Given the description of an element on the screen output the (x, y) to click on. 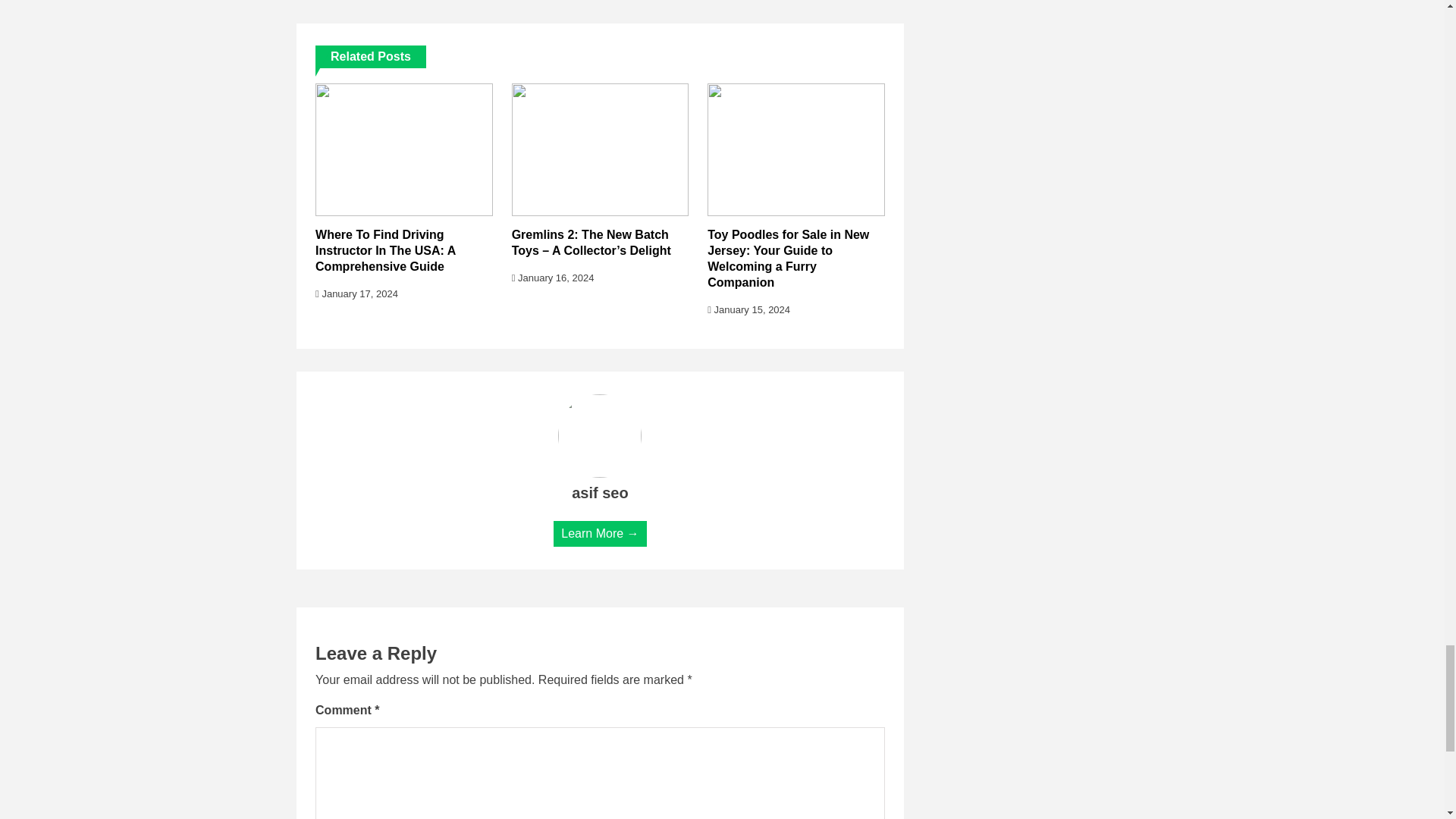
January 17, 2024 (356, 293)
January 16, 2024 (553, 277)
January 15, 2024 (748, 309)
